Given the description of an element on the screen output the (x, y) to click on. 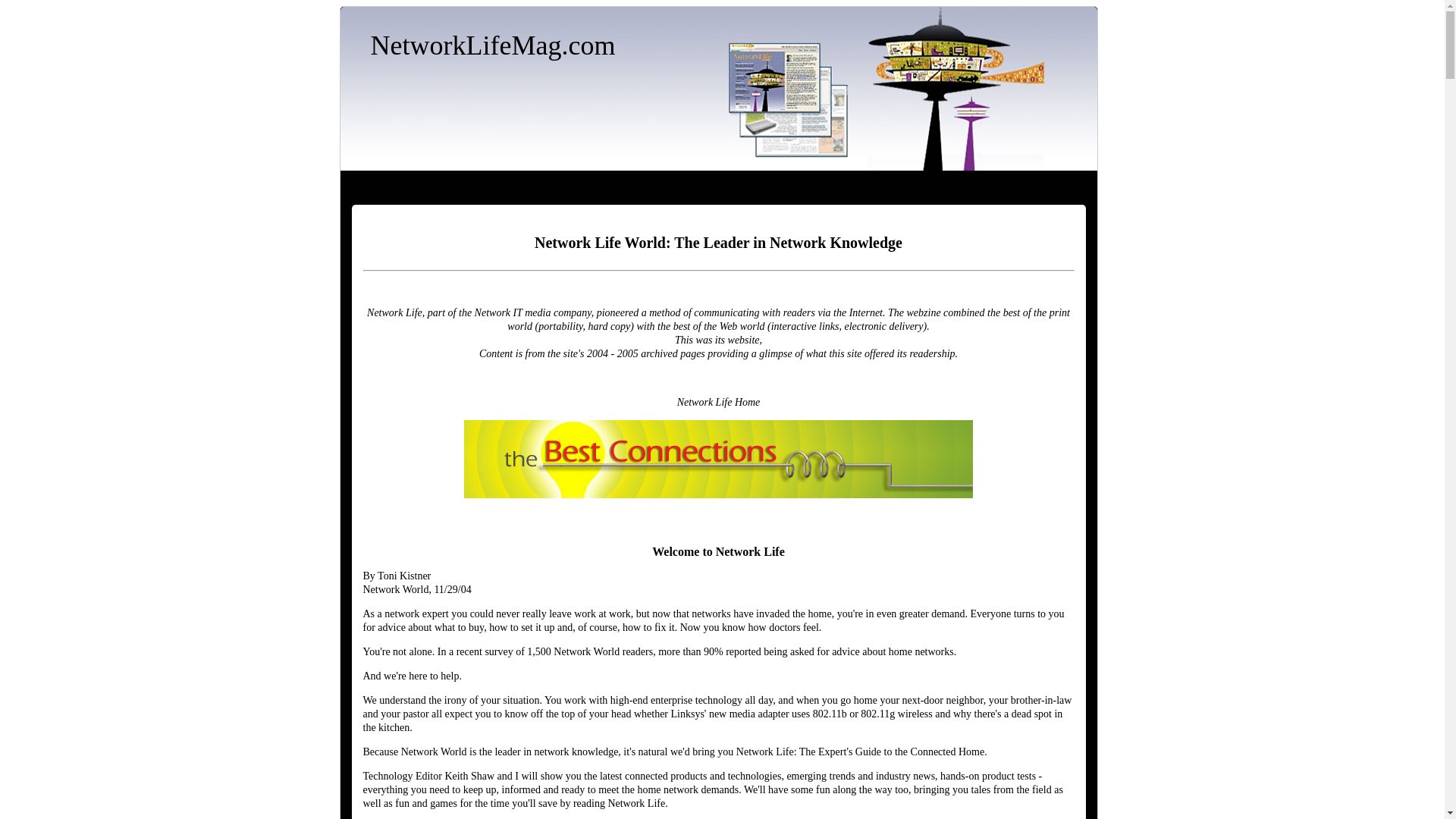
Home (491, 45)
NetworkLifeMag.com (491, 45)
